Given the description of an element on the screen output the (x, y) to click on. 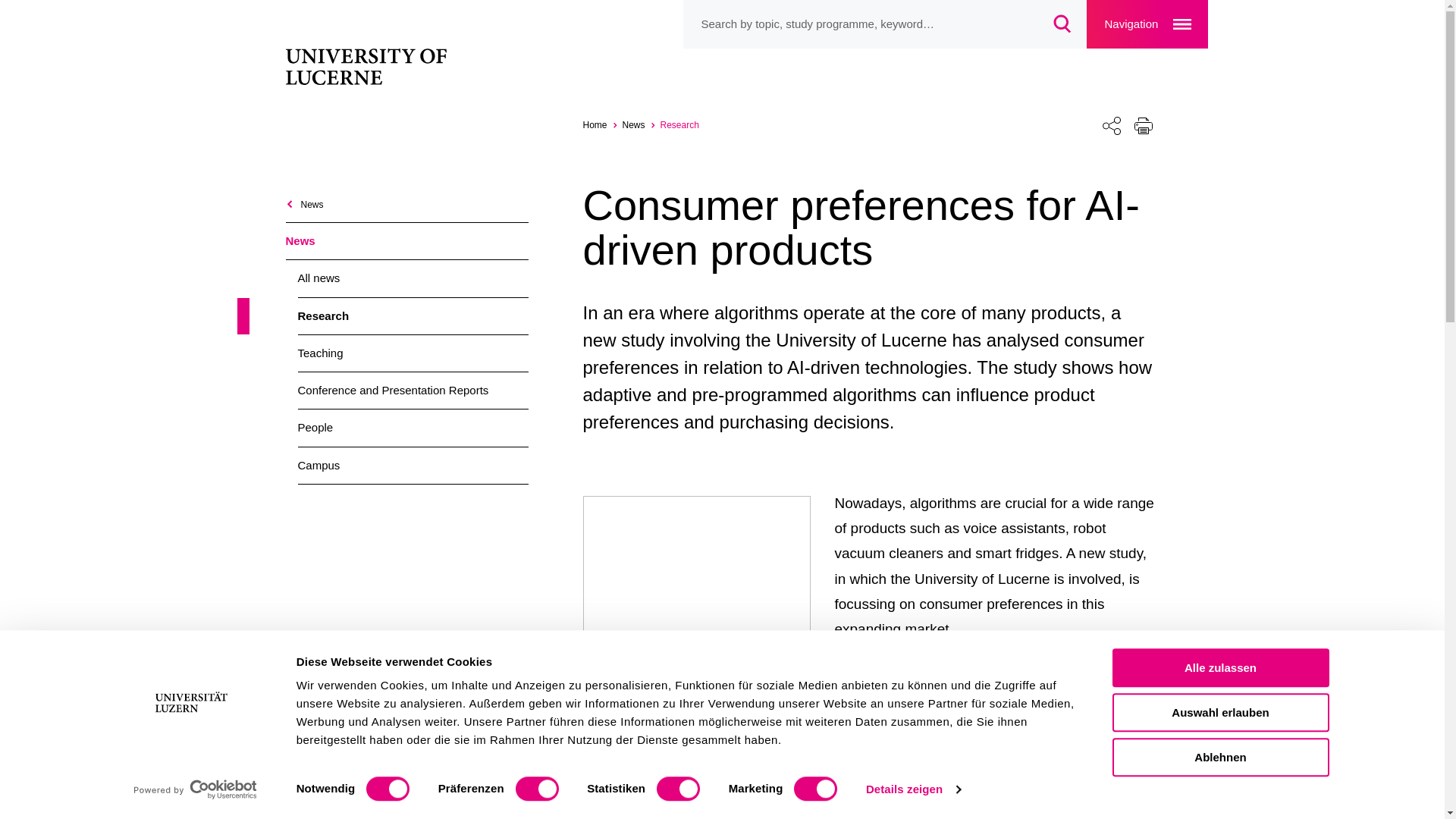
Details zeigen (913, 789)
University of Lucerne (601, 124)
